Given the description of an element on the screen output the (x, y) to click on. 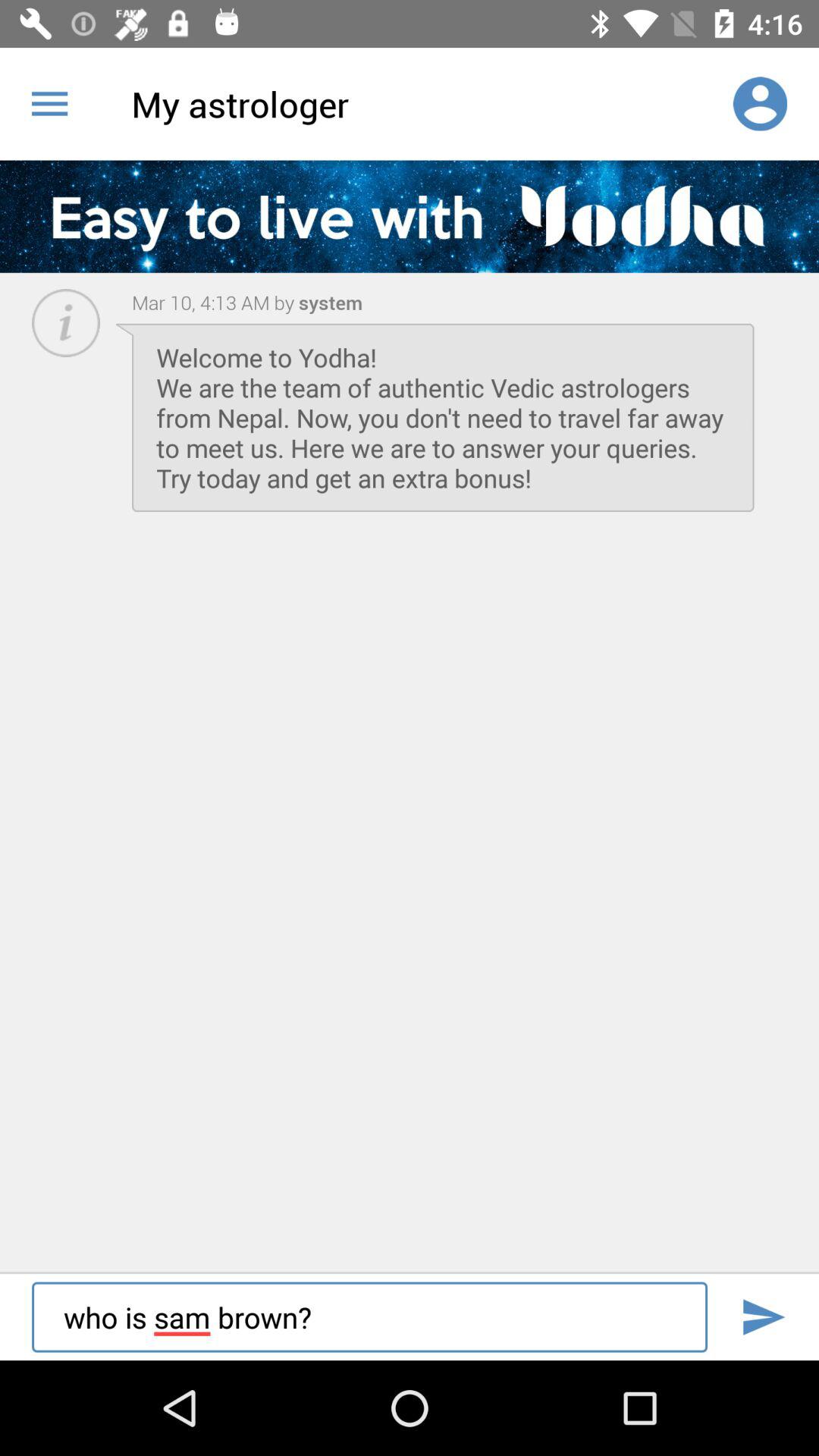
scroll to the welcome to yodha item (442, 417)
